Given the description of an element on the screen output the (x, y) to click on. 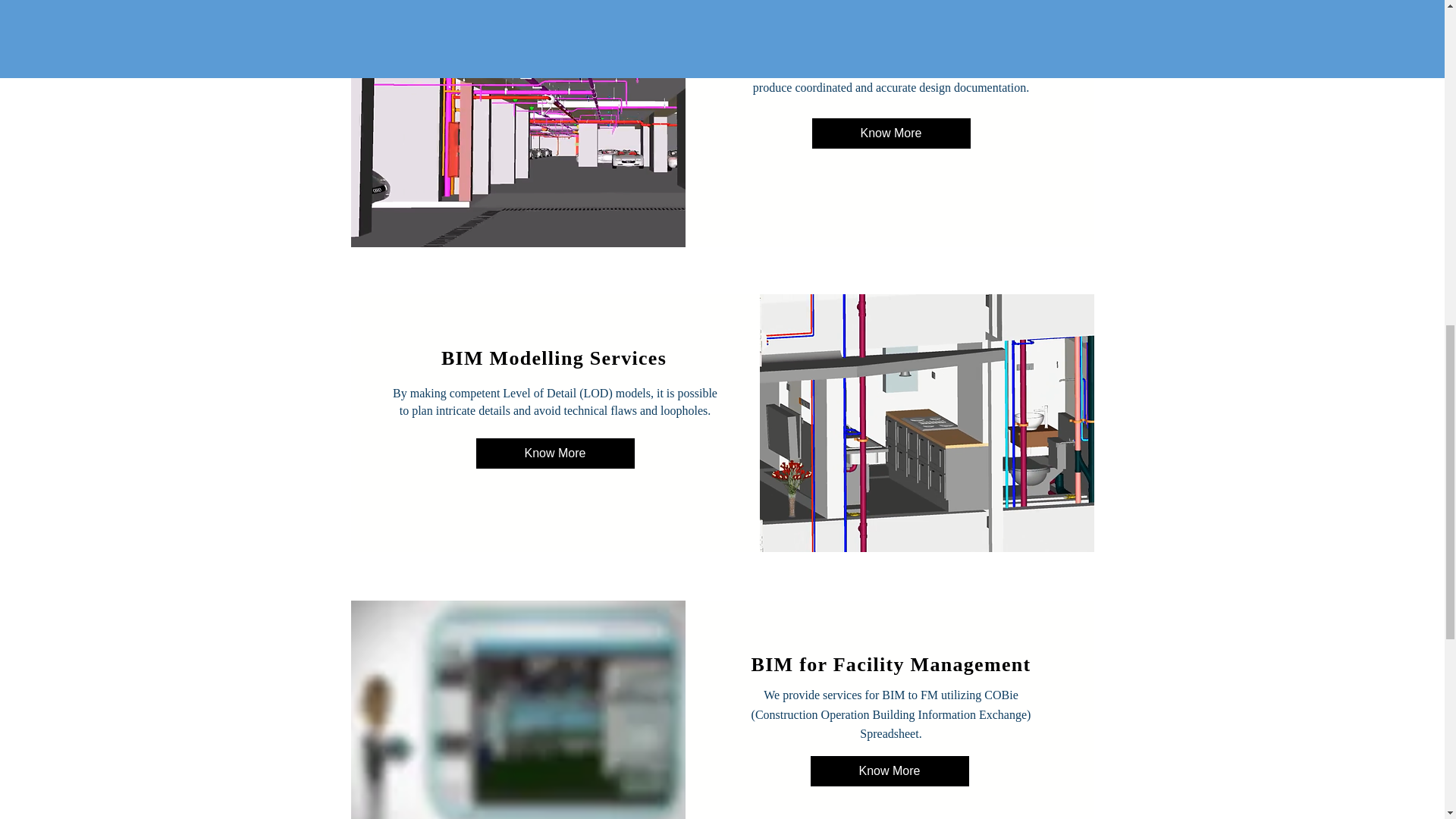
Know More (555, 453)
Know More (889, 132)
Know More (888, 770)
